Given the description of an element on the screen output the (x, y) to click on. 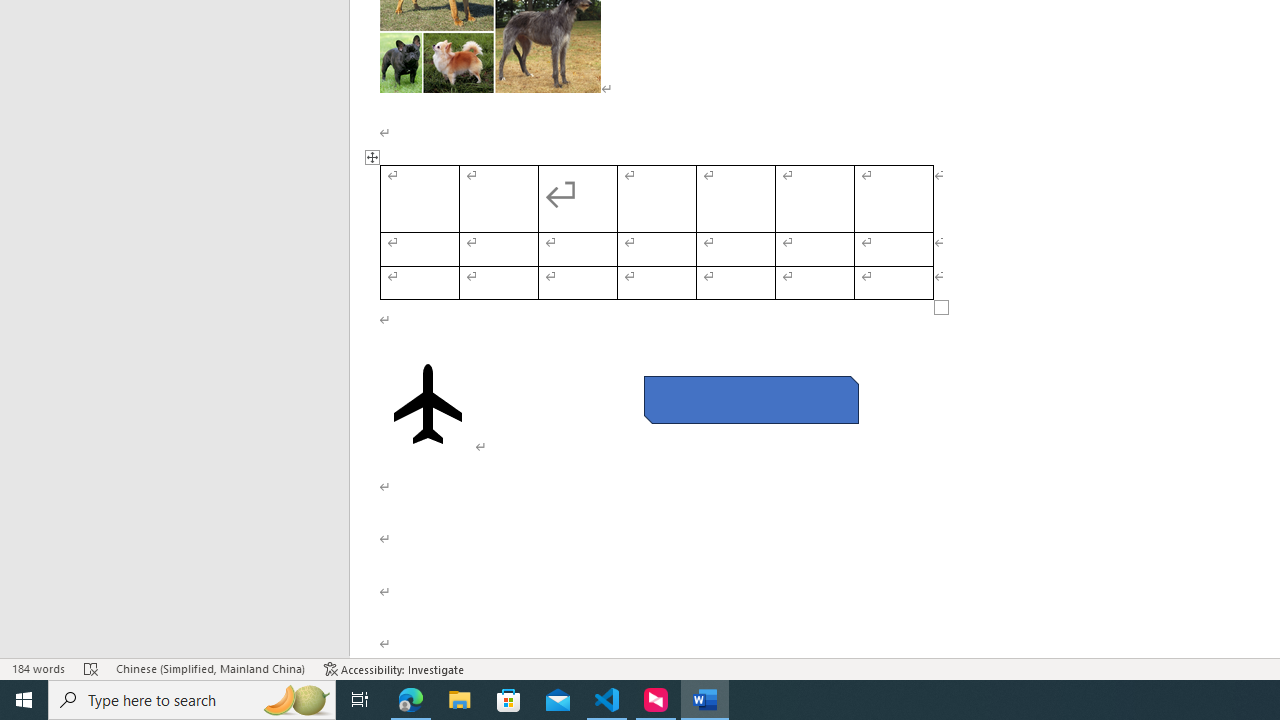
Word - 1 running window (704, 699)
Word Count 184 words (37, 668)
